Given the description of an element on the screen output the (x, y) to click on. 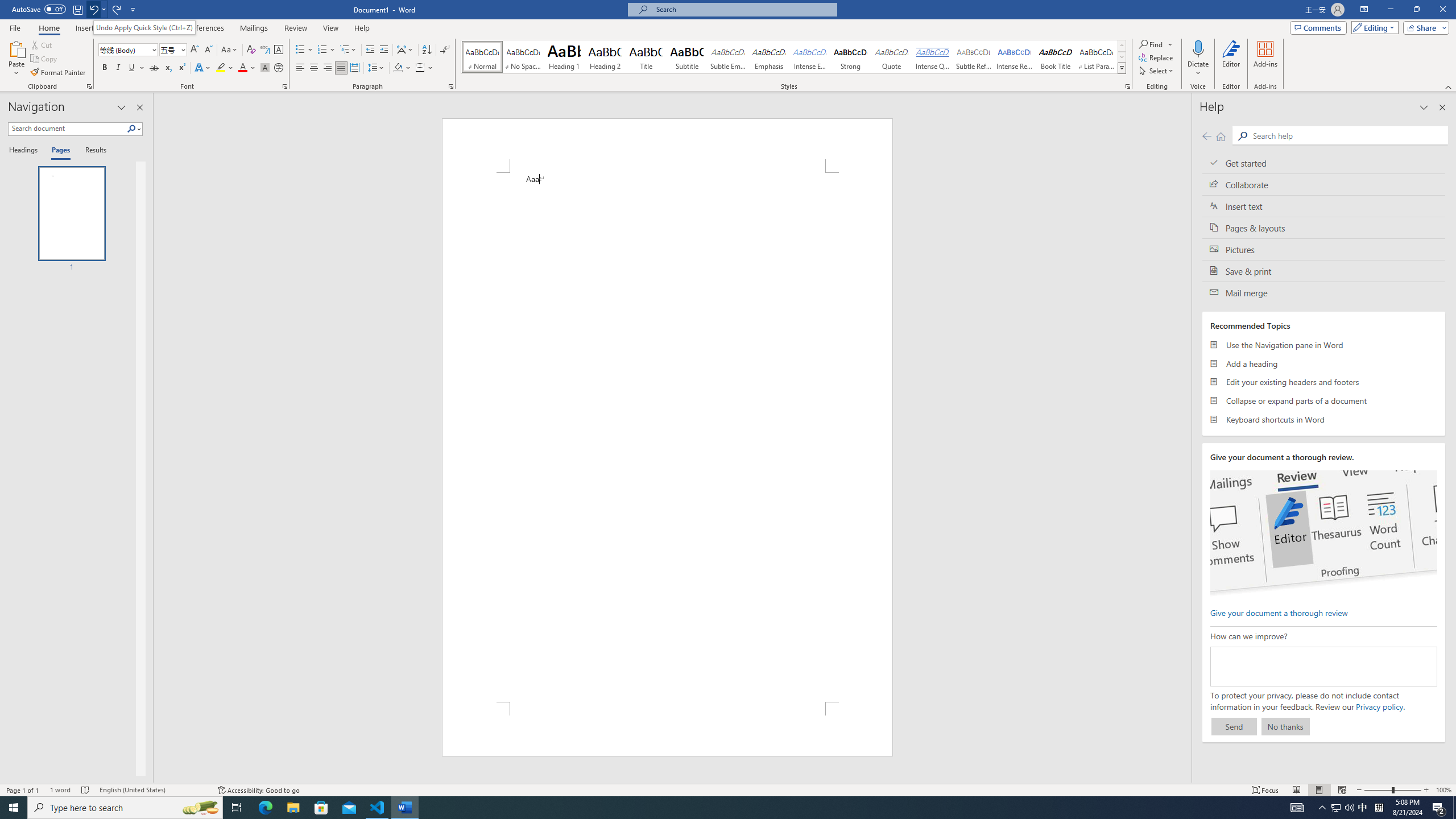
Book Title (1055, 56)
Spelling and Grammar Check No Errors (85, 790)
